Given the description of an element on the screen output the (x, y) to click on. 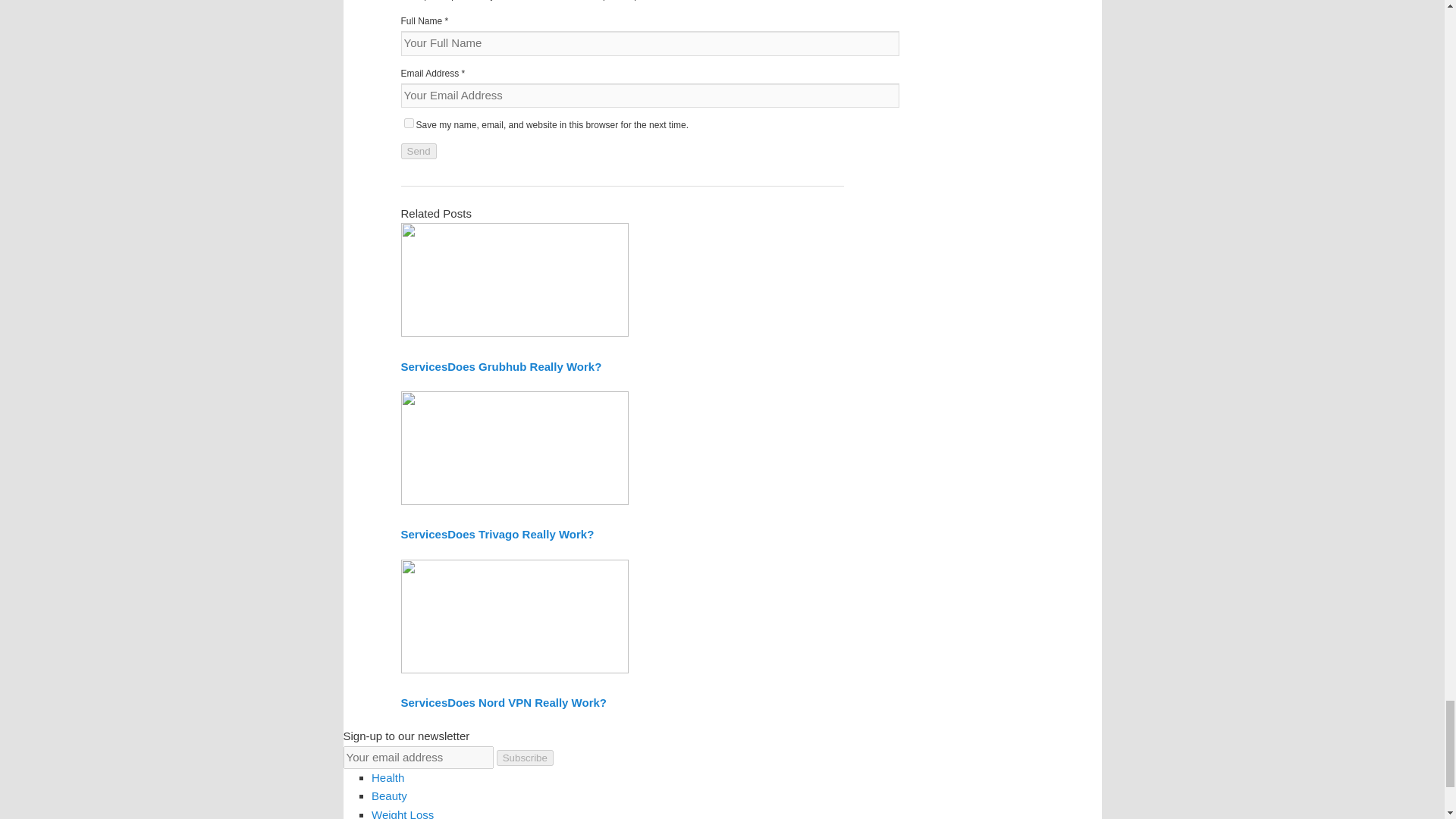
yes (408, 122)
Does Grubhub Really Work? (523, 366)
Send (417, 150)
Services (423, 366)
